Given the description of an element on the screen output the (x, y) to click on. 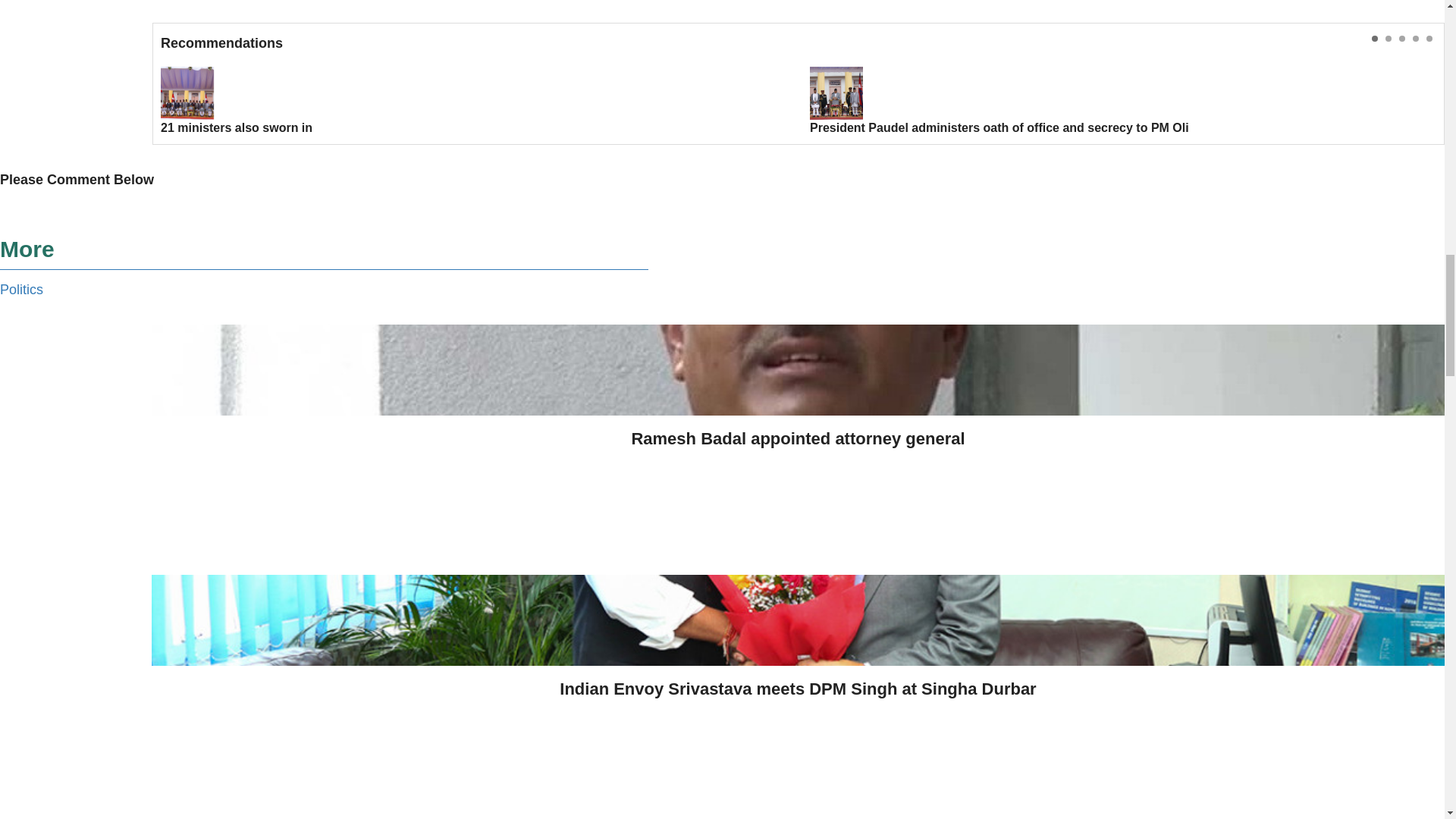
21 ministers also sworn in (473, 101)
